Given the description of an element on the screen output the (x, y) to click on. 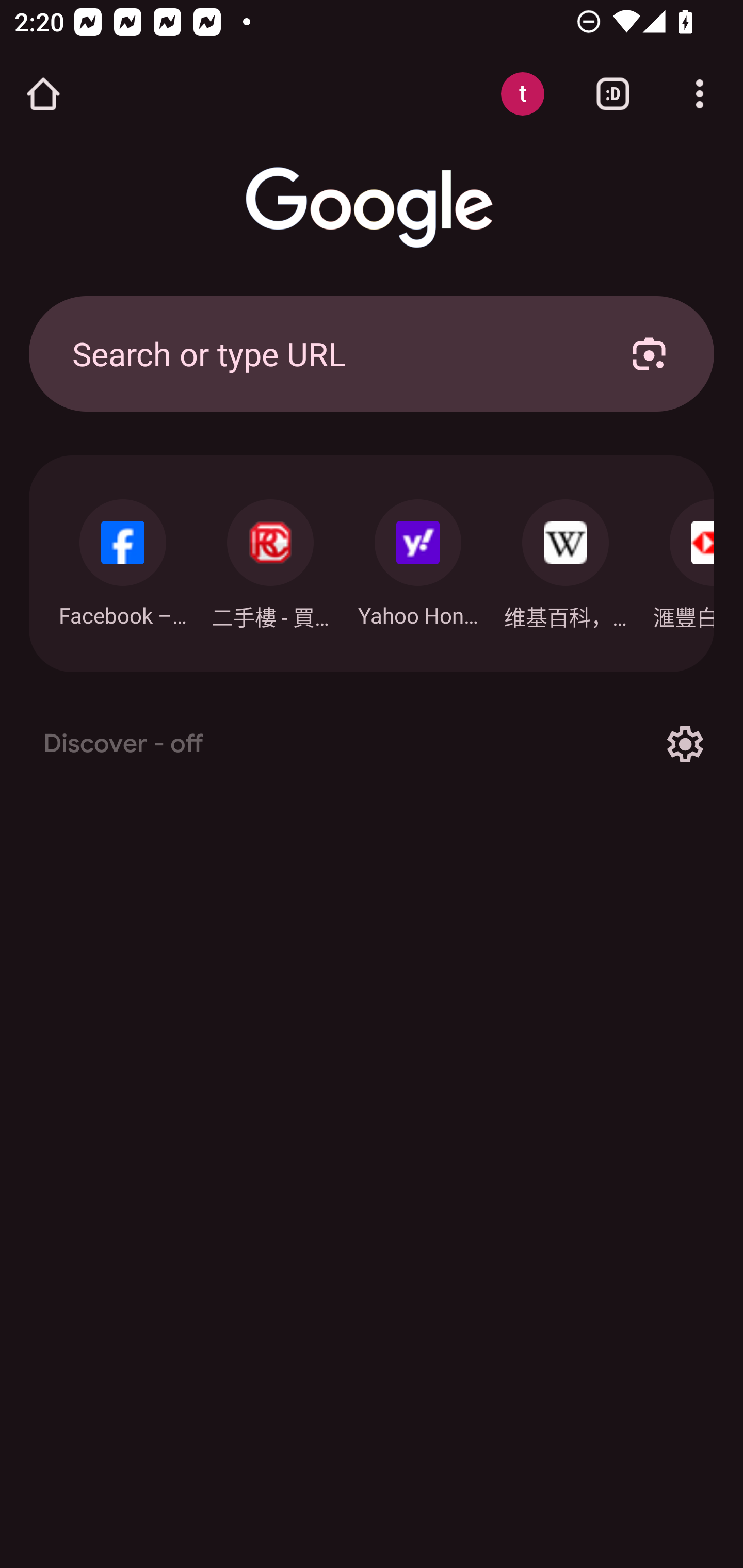
Open the home page (43, 93)
Switch or close tabs (612, 93)
Customize and control Google Chrome (699, 93)
Search or type URL (327, 353)
Search with your camera using Google Lens (648, 353)
Options for Discover (684, 743)
